Given the description of an element on the screen output the (x, y) to click on. 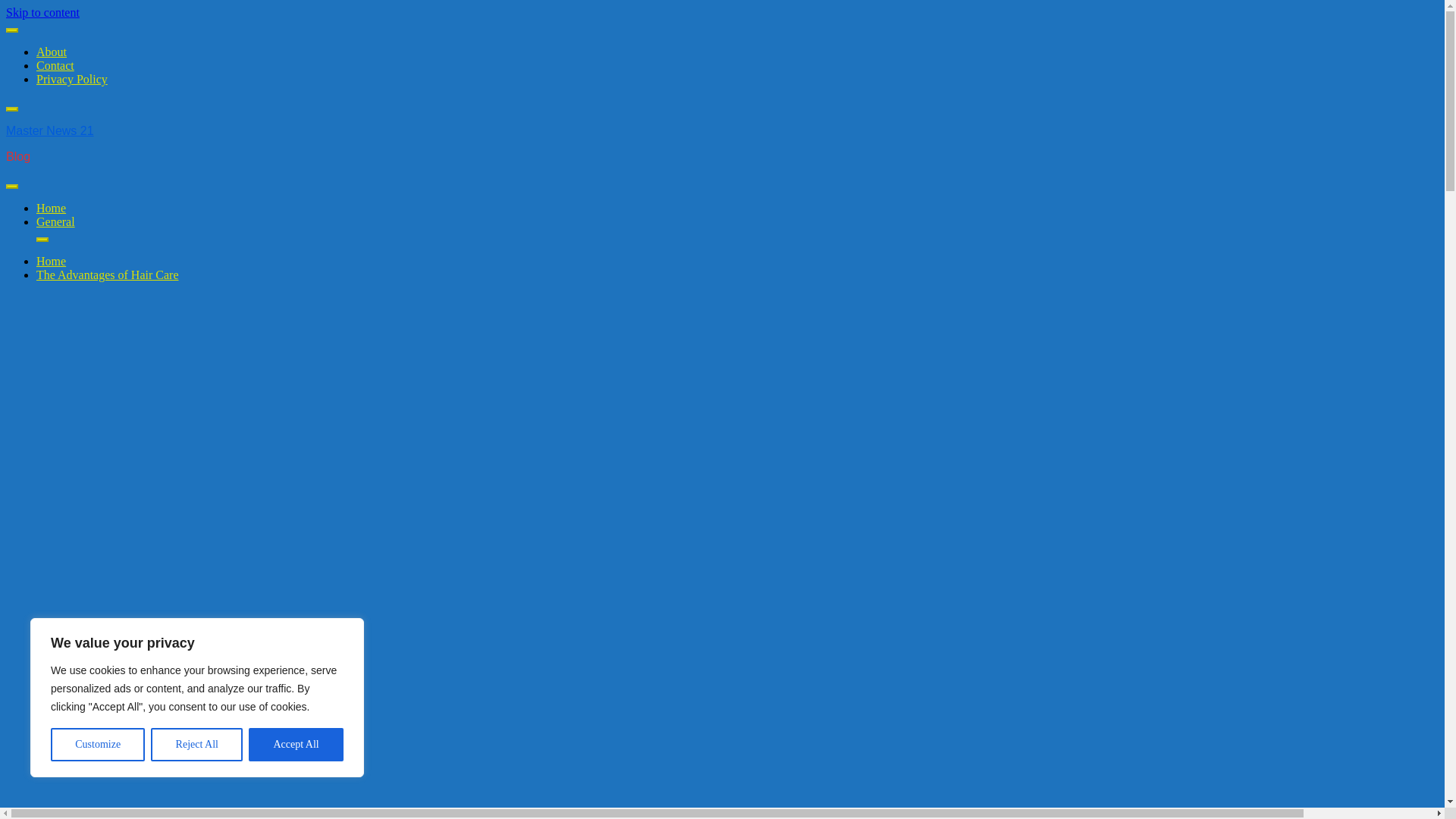
Home (50, 260)
About (51, 51)
Home (50, 207)
Accept All (295, 744)
Privacy Policy (71, 78)
General (55, 221)
Master News 21 (49, 130)
Contact (55, 65)
Skip to content (42, 11)
The Advantages of Hair Care (106, 274)
